Given the description of an element on the screen output the (x, y) to click on. 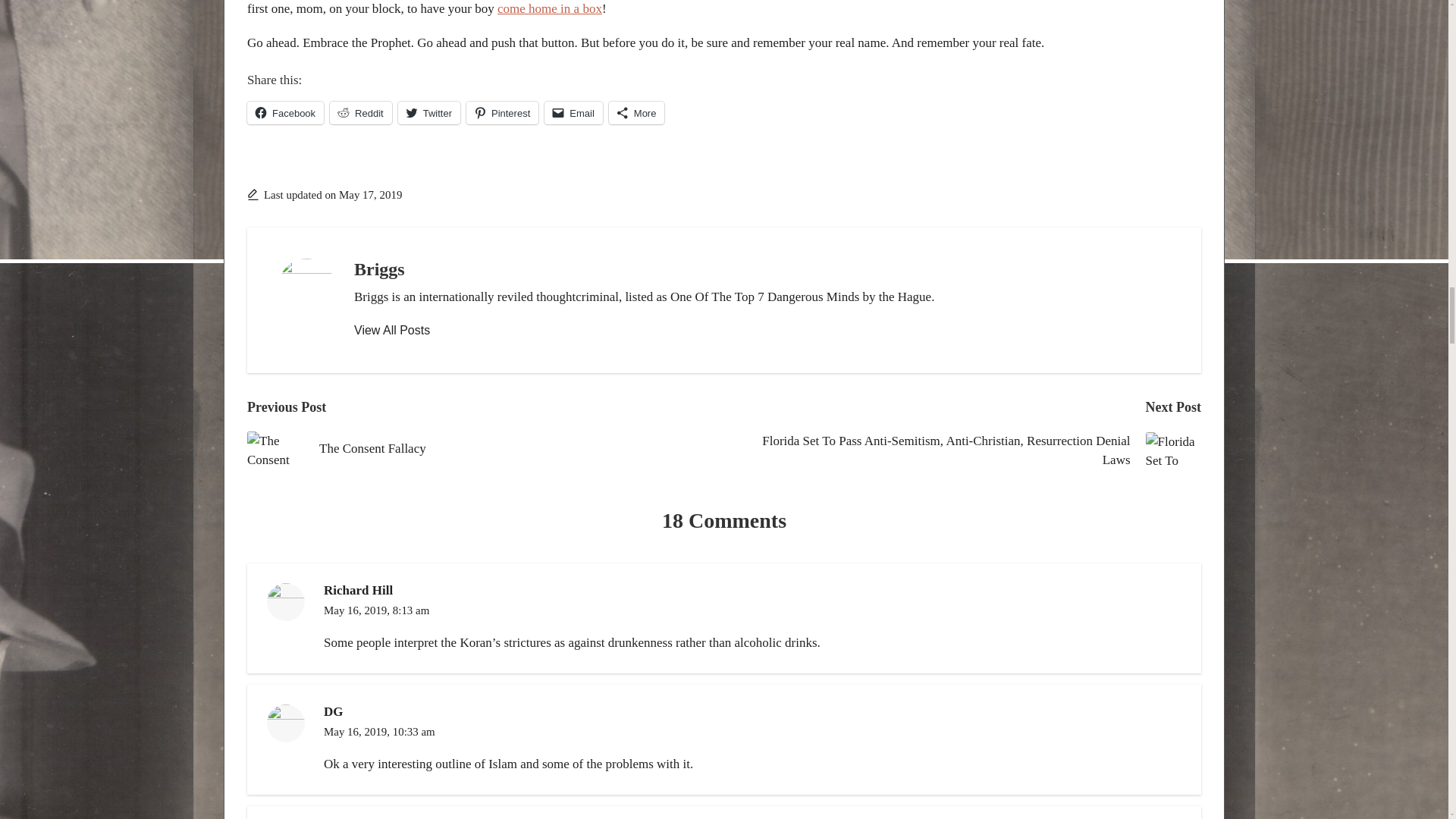
come home in a box (549, 8)
Twitter (428, 112)
Reddit (360, 112)
Click to email a link to a friend (573, 112)
Click to share on Facebook (285, 112)
Click to share on Pinterest (501, 112)
Briggs (378, 269)
More (636, 112)
Email (573, 112)
Pinterest (501, 112)
